Given the description of an element on the screen output the (x, y) to click on. 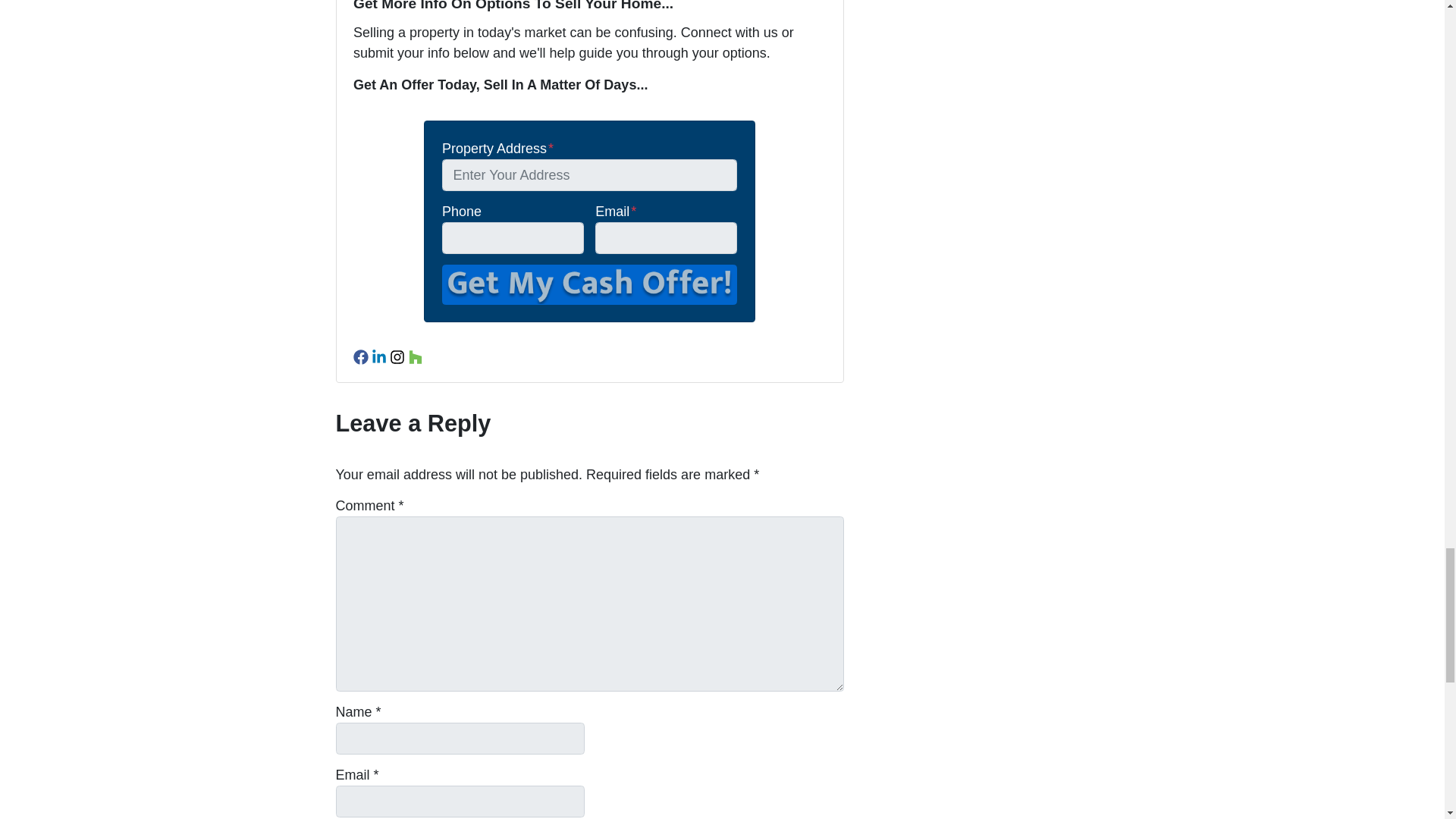
Instagram (397, 356)
Facebook (360, 356)
Houzz (415, 356)
LinkedIn (379, 356)
